Given the description of an element on the screen output the (x, y) to click on. 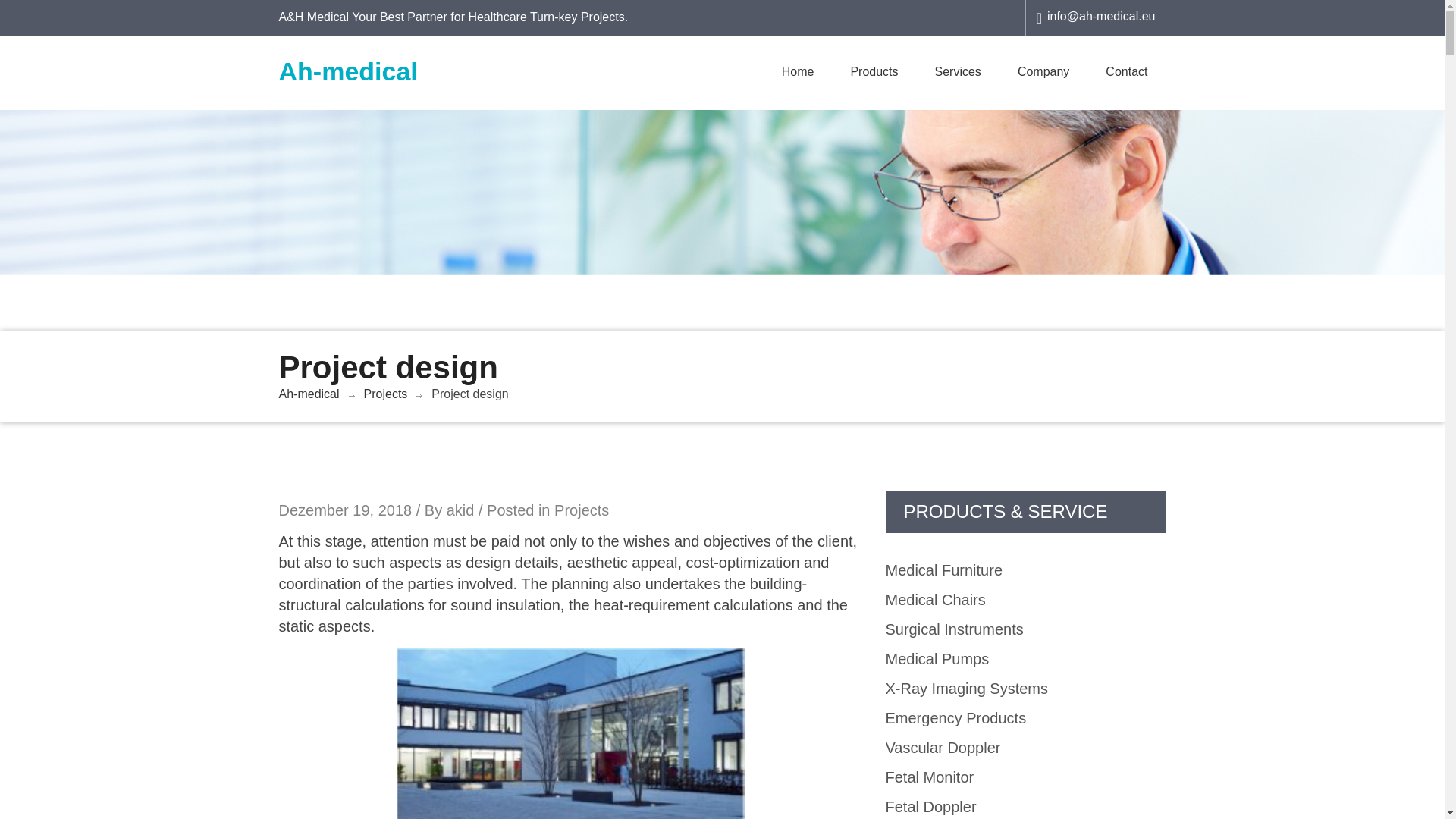
Ah-medical (309, 393)
akid (460, 510)
Company (1042, 71)
Ah-medical (348, 71)
Contact (1126, 71)
Projects (385, 393)
Home (797, 71)
Products (873, 71)
Services (957, 71)
